Given the description of an element on the screen output the (x, y) to click on. 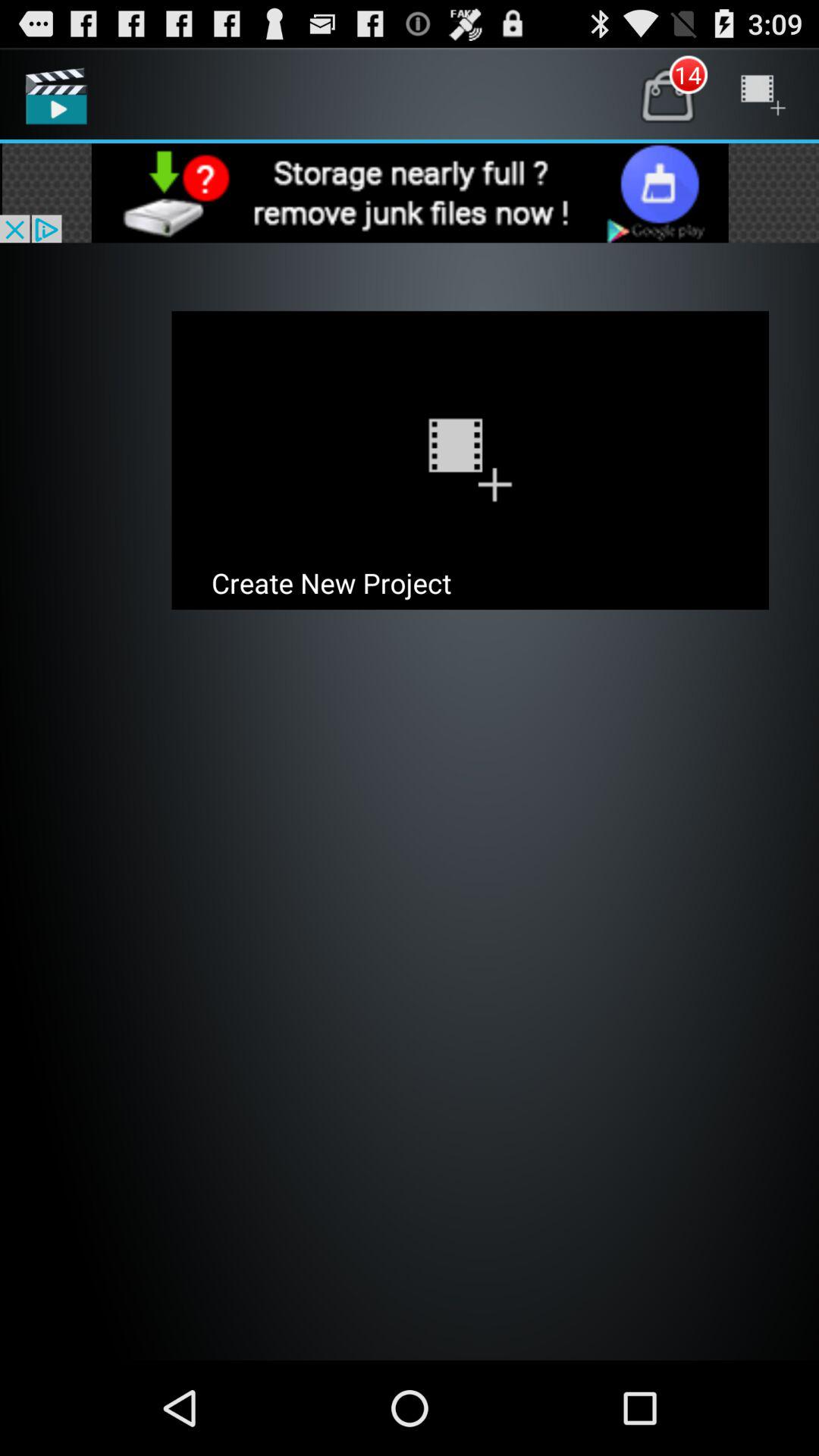
advertisements are displayed (409, 192)
